Given the description of an element on the screen output the (x, y) to click on. 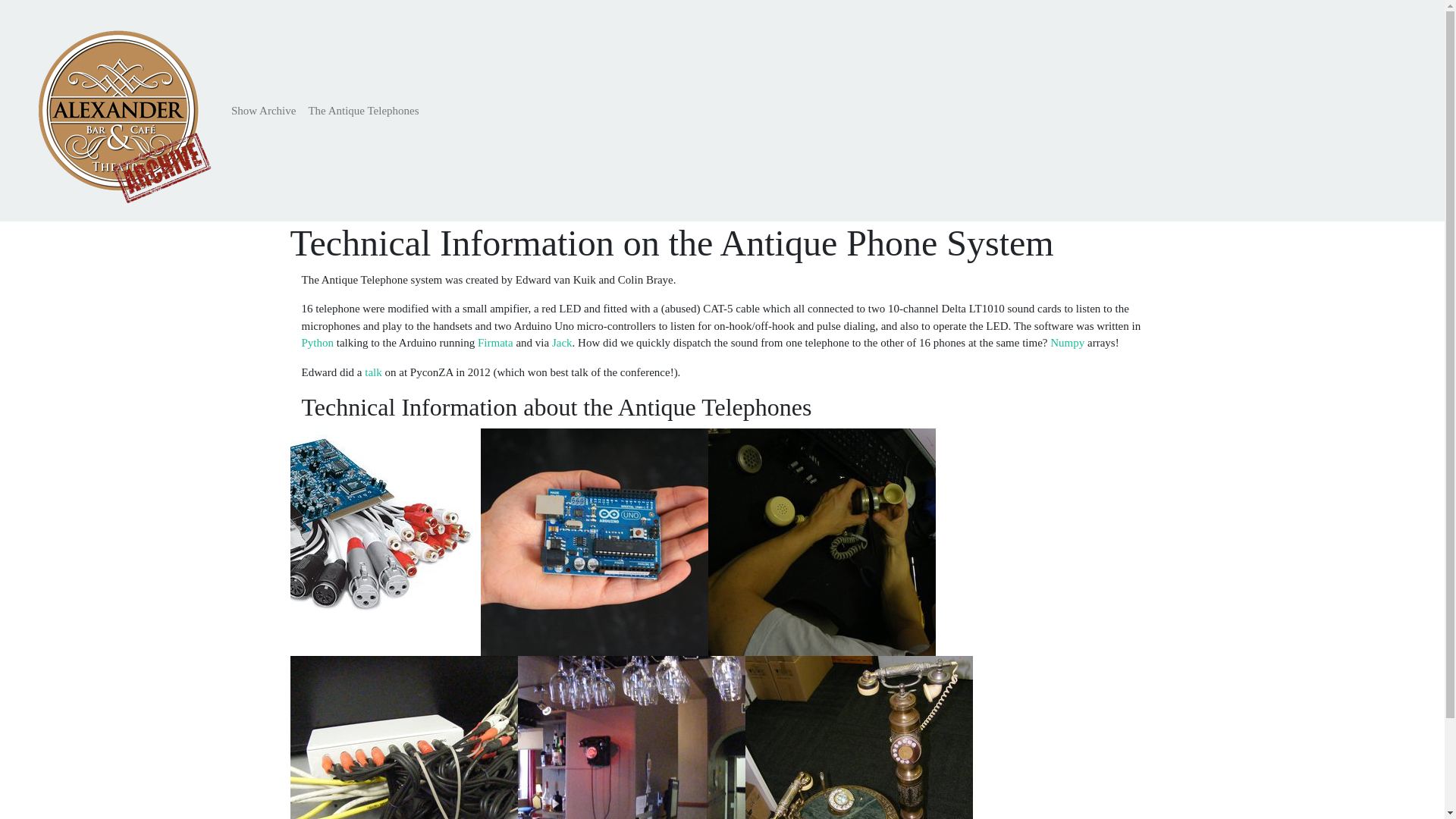
Numpy (1066, 342)
Show Archive (263, 111)
Jack (561, 342)
talk (373, 372)
Python (317, 342)
The Antique Telephones (363, 111)
Firmata (495, 342)
